Given the description of an element on the screen output the (x, y) to click on. 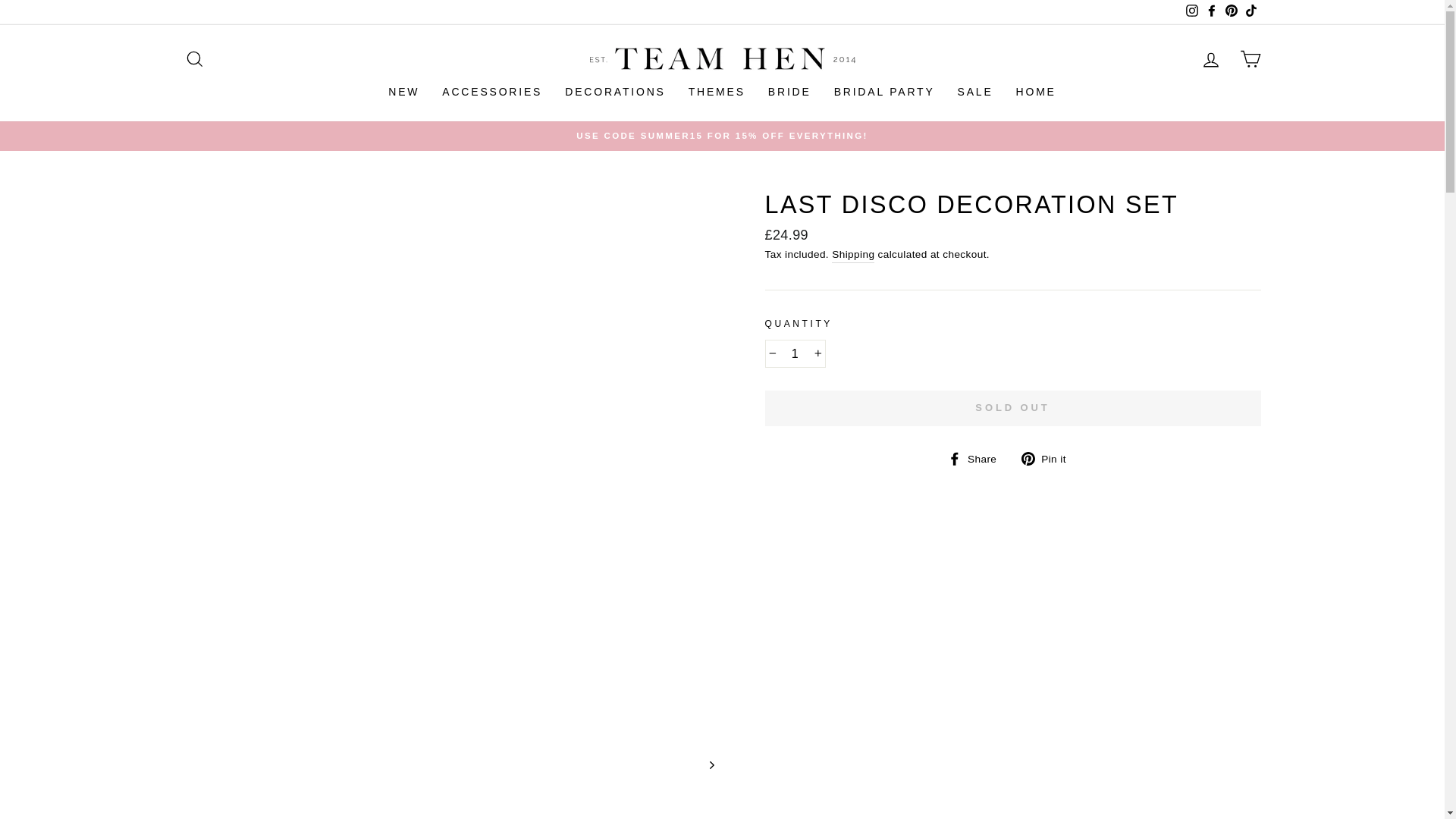
Pin on Pinterest (1049, 458)
Share on Facebook (977, 458)
1 (794, 353)
